Given the description of an element on the screen output the (x, y) to click on. 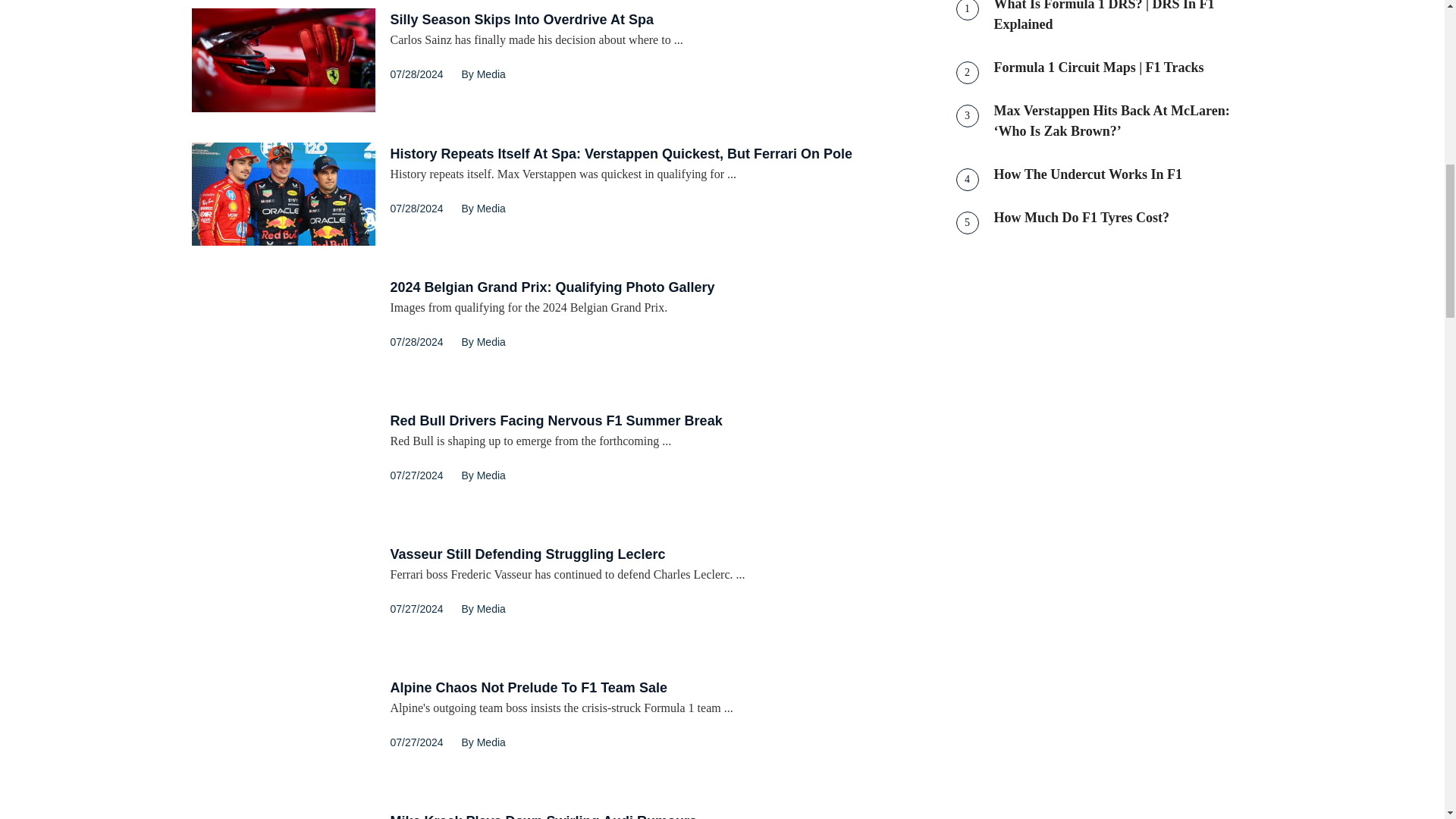
Red Bull Drivers Facing Nervous F1 Summer Break (282, 460)
2024 Belgian Grand Prix: Qualifying Photo Gallery (282, 327)
Silly Season Skips Into Overdrive At Spa (521, 19)
Silly Season Skips Into Overdrive At Spa (282, 59)
2024 Belgian Grand Prix: Qualifying Photo Gallery (552, 287)
